Given the description of an element on the screen output the (x, y) to click on. 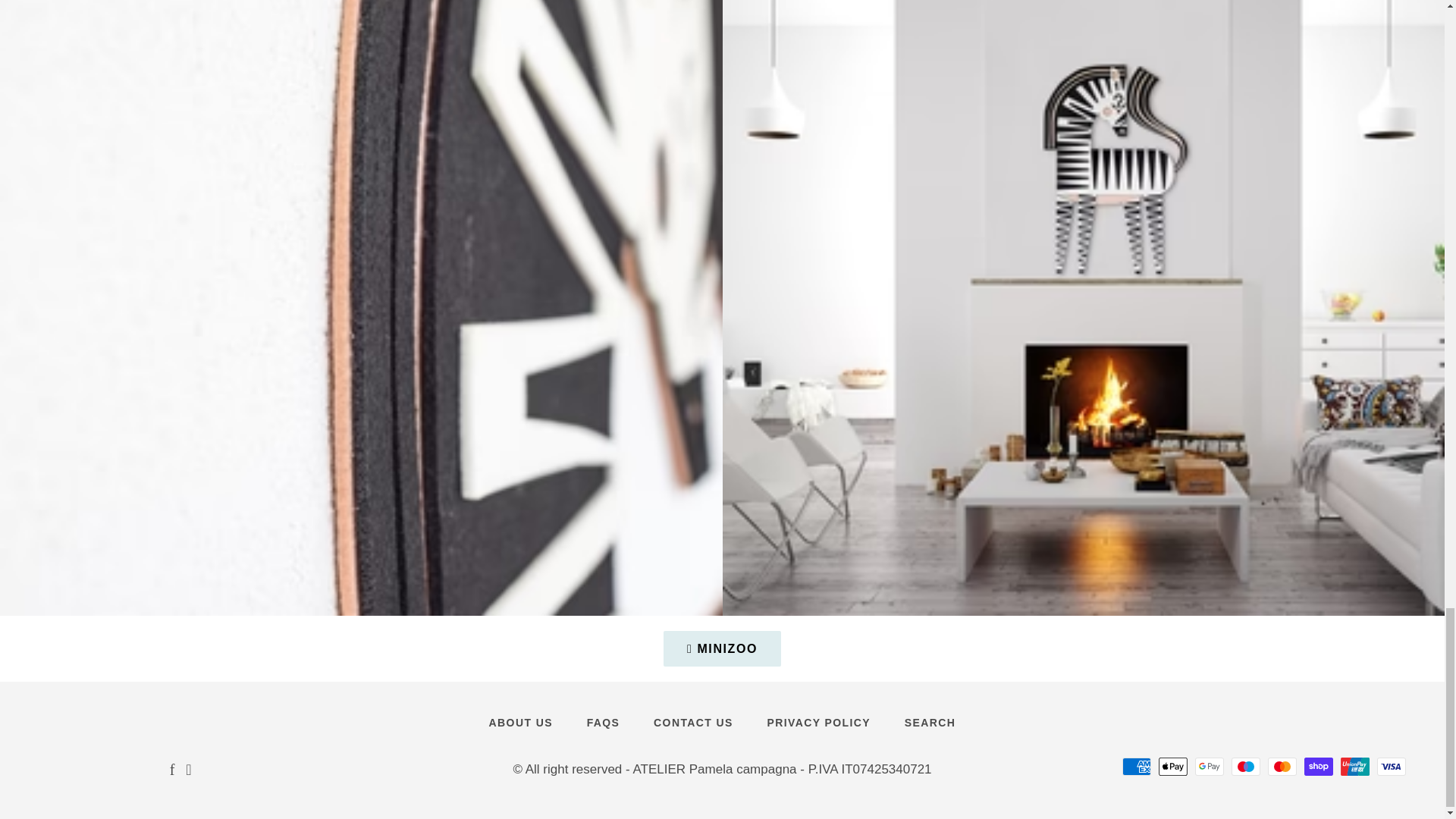
Union Pay (1355, 766)
PRIVACY POLICY (819, 722)
ABOUT US (520, 722)
SEARCH (930, 722)
CONTACT US (693, 722)
Visa (1391, 766)
Shop Pay (1318, 766)
Maestro (1245, 766)
Apple Pay (1173, 766)
FAQS (603, 722)
